Given the description of an element on the screen output the (x, y) to click on. 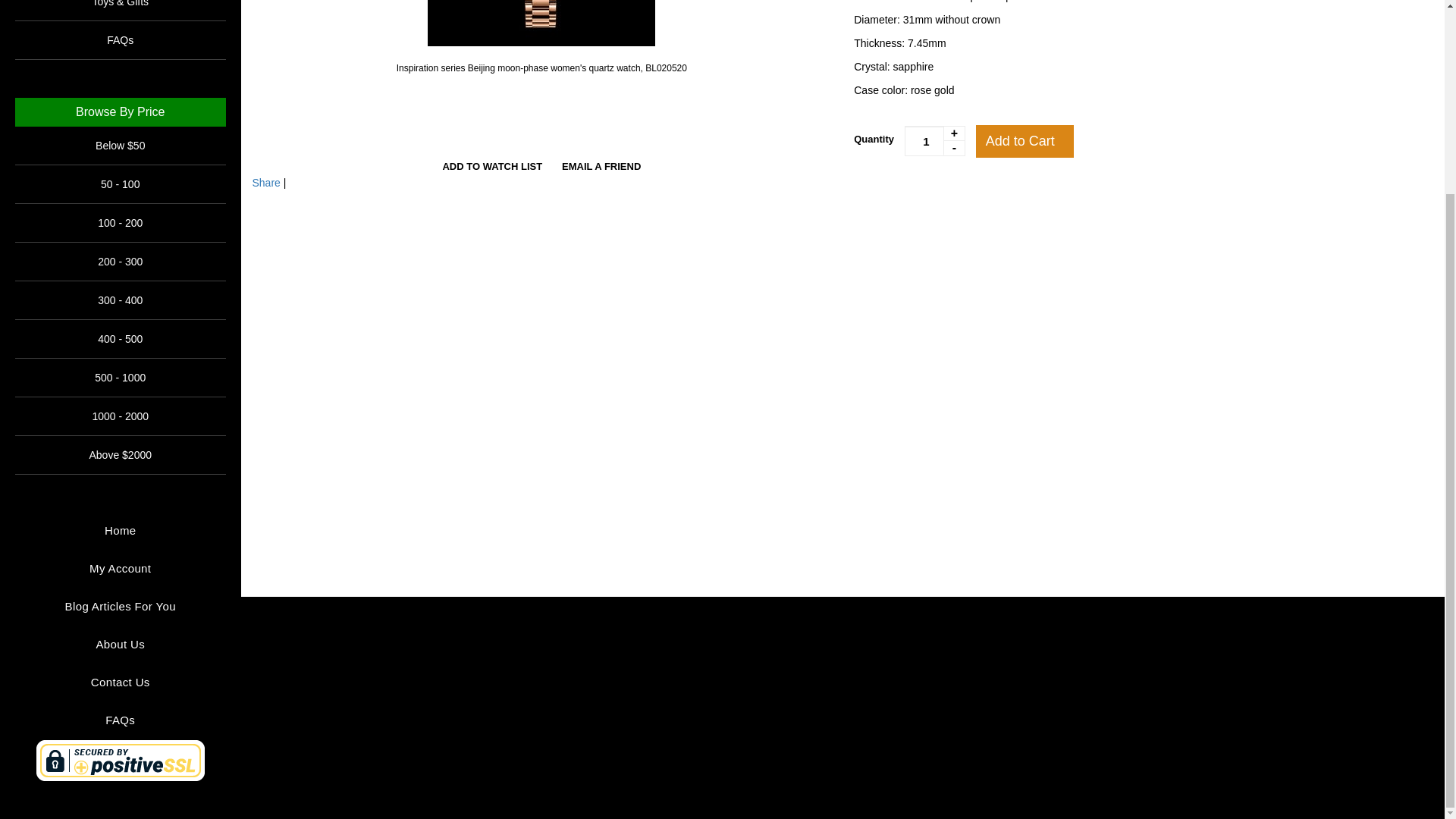
300 - 400 (120, 299)
FAQs (119, 39)
50 - 100 (119, 184)
1 (934, 141)
200 - 300 (120, 261)
100 - 200 (120, 222)
